Given the description of an element on the screen output the (x, y) to click on. 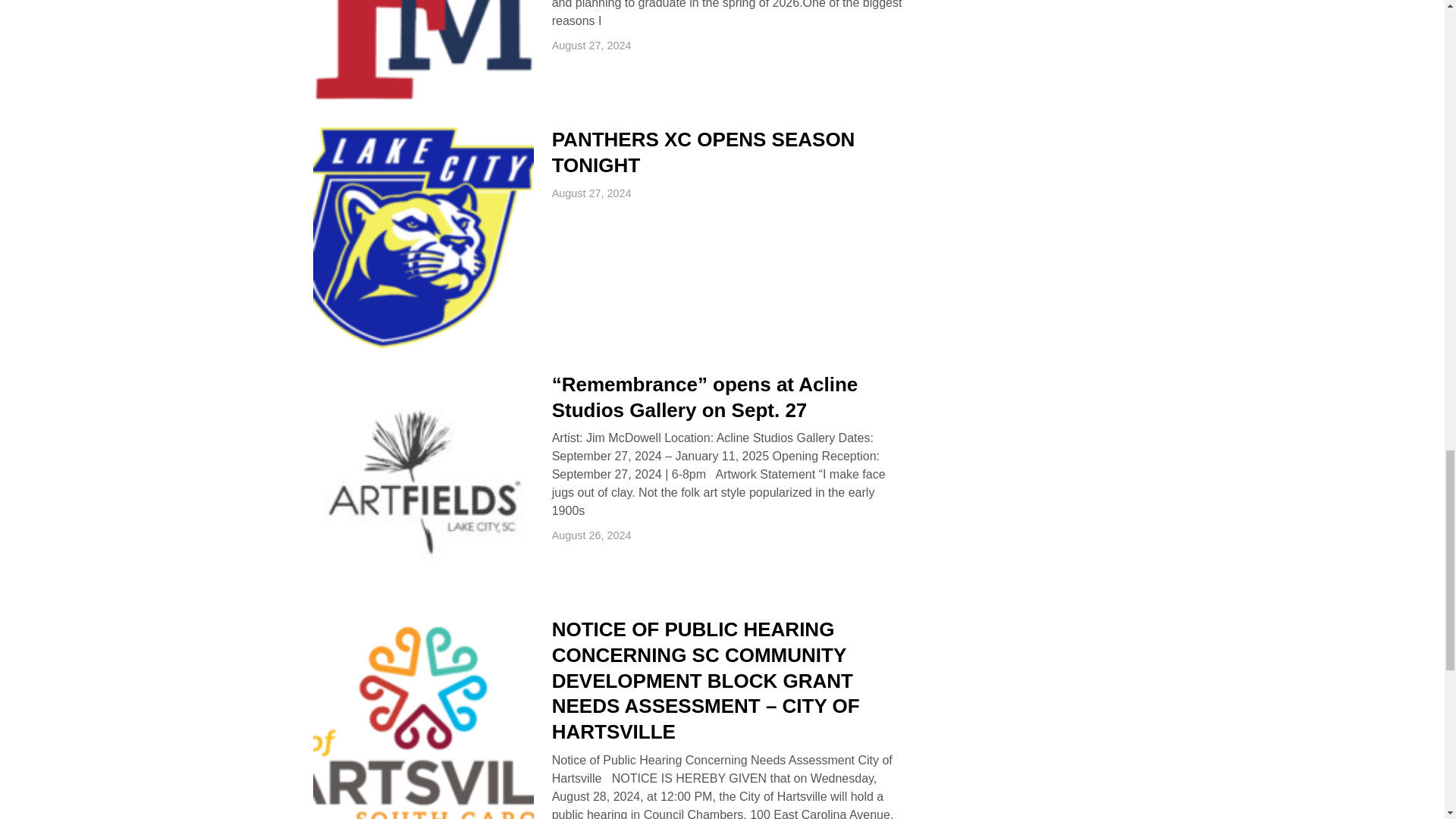
27 Aug, 2024 09:41:54 (591, 192)
27 Aug, 2024 12:53:42 (591, 45)
26 Aug, 2024 21:58:55 (591, 534)
